Given the description of an element on the screen output the (x, y) to click on. 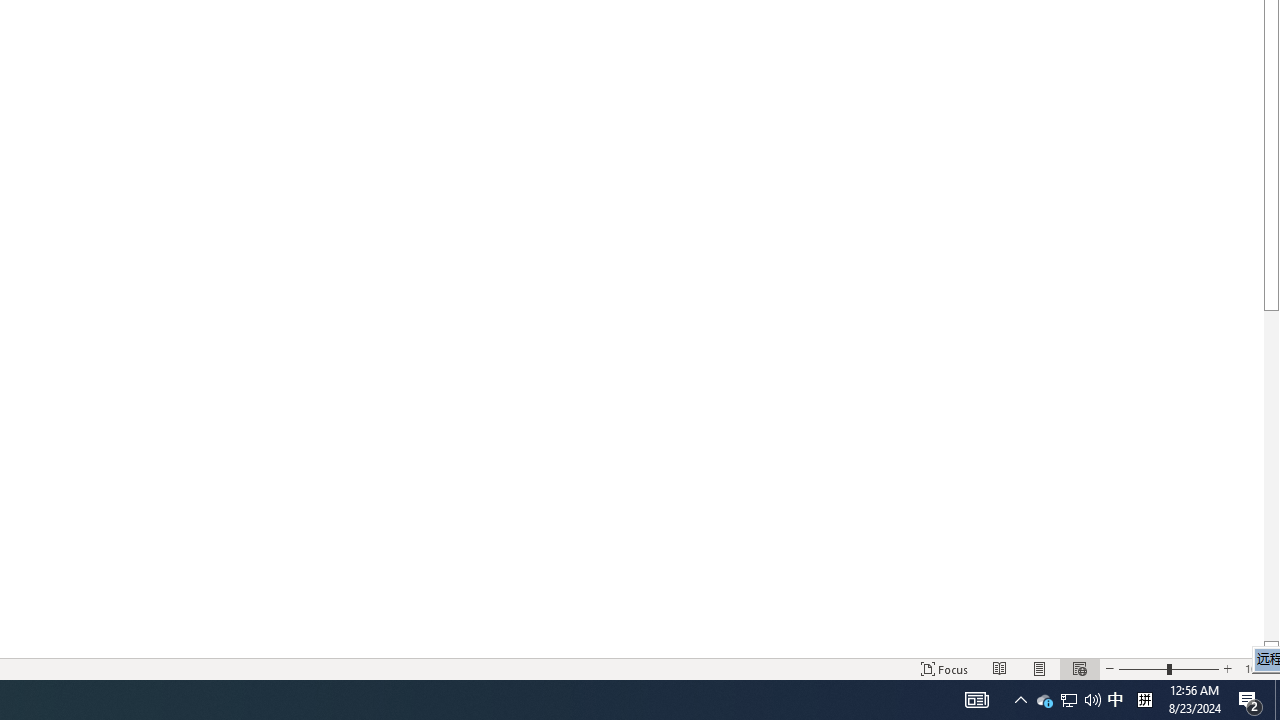
Line down (1271, 649)
Zoom 100% (1258, 668)
Page down (1271, 475)
